Given the description of an element on the screen output the (x, y) to click on. 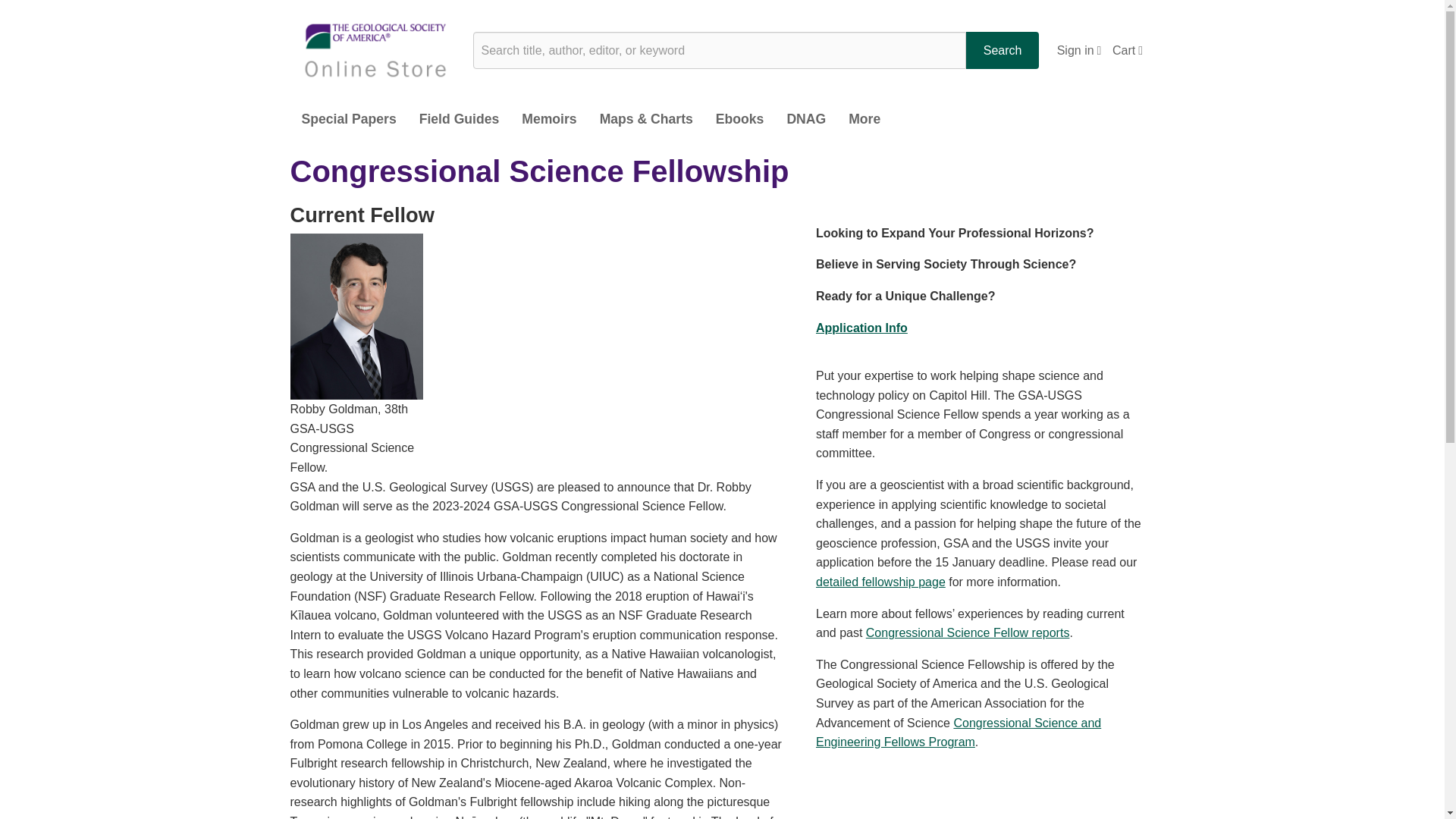
Memoirs (549, 119)
Field Guides (459, 119)
Congressional Science and Engineering Fellows Program (957, 732)
Congressional Science Fellow reports (968, 632)
Application Info (861, 327)
Special Papers (348, 119)
Ebooks (740, 119)
Sign in (1079, 50)
Search (1002, 49)
DNAG (805, 119)
detailed fellowship page (879, 581)
More (864, 119)
Cart (1127, 50)
